Given the description of an element on the screen output the (x, y) to click on. 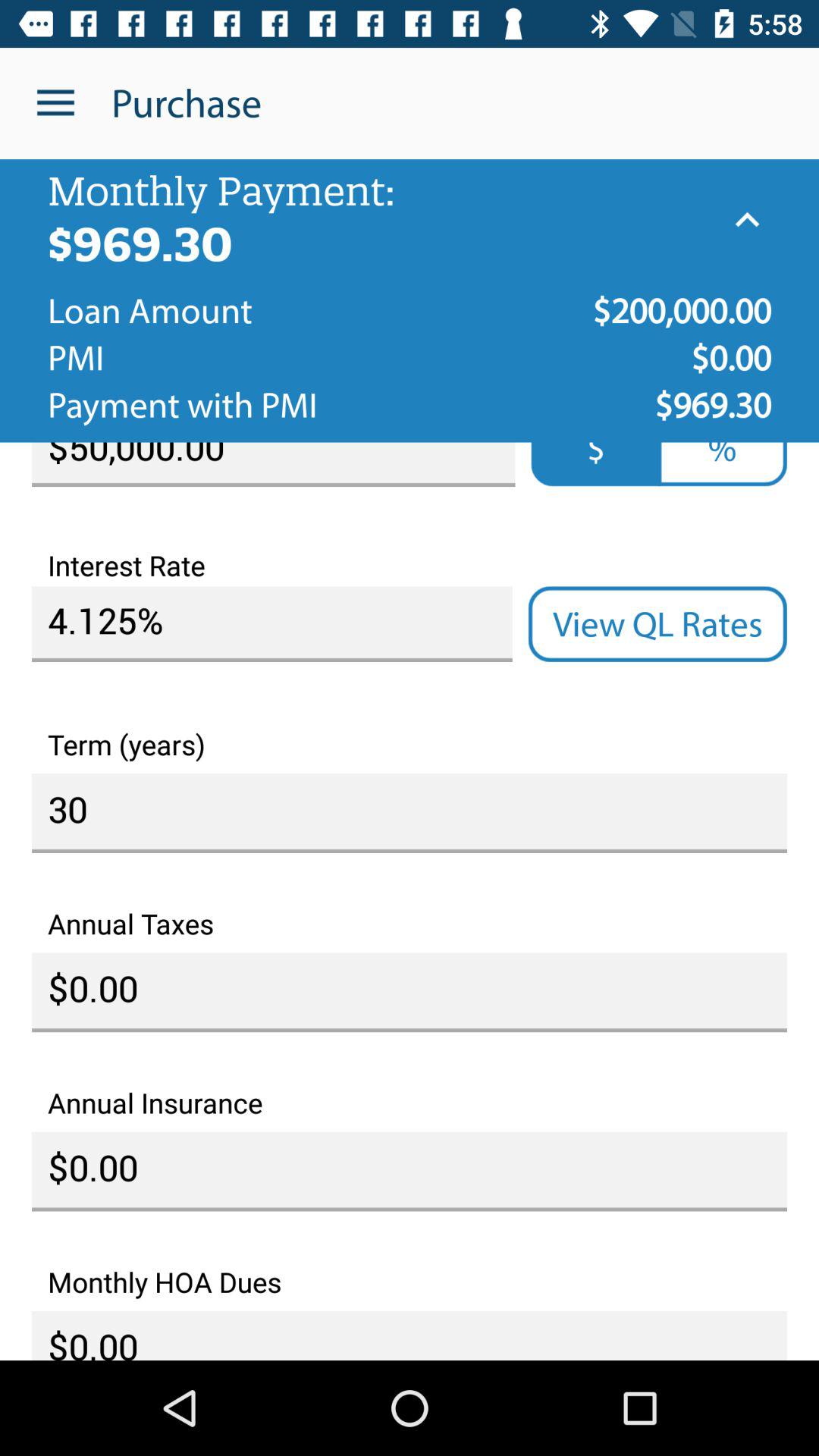
choose icon to the right of monthly payment: (747, 219)
